Given the description of an element on the screen output the (x, y) to click on. 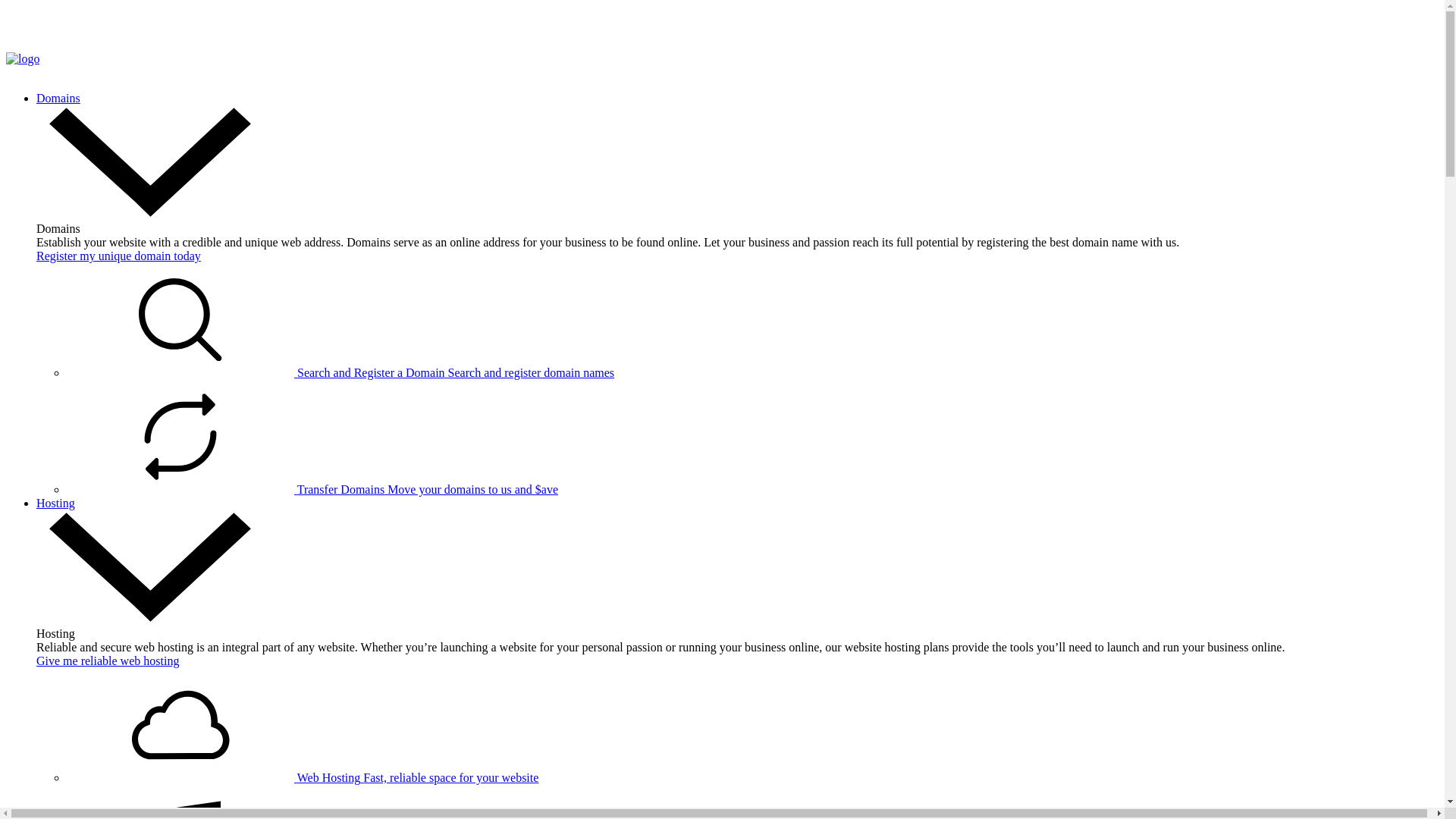
Domains Element type: text (58, 97)
Register my unique domain today Element type: text (118, 255)
Web Hosting Fast, reliable space for your website Element type: text (302, 777)
Give me reliable web hosting Element type: text (107, 660)
Hosting Element type: text (55, 502)
Transfer Domains Move your domains to us and $ave Element type: text (312, 489)
